Given the description of an element on the screen output the (x, y) to click on. 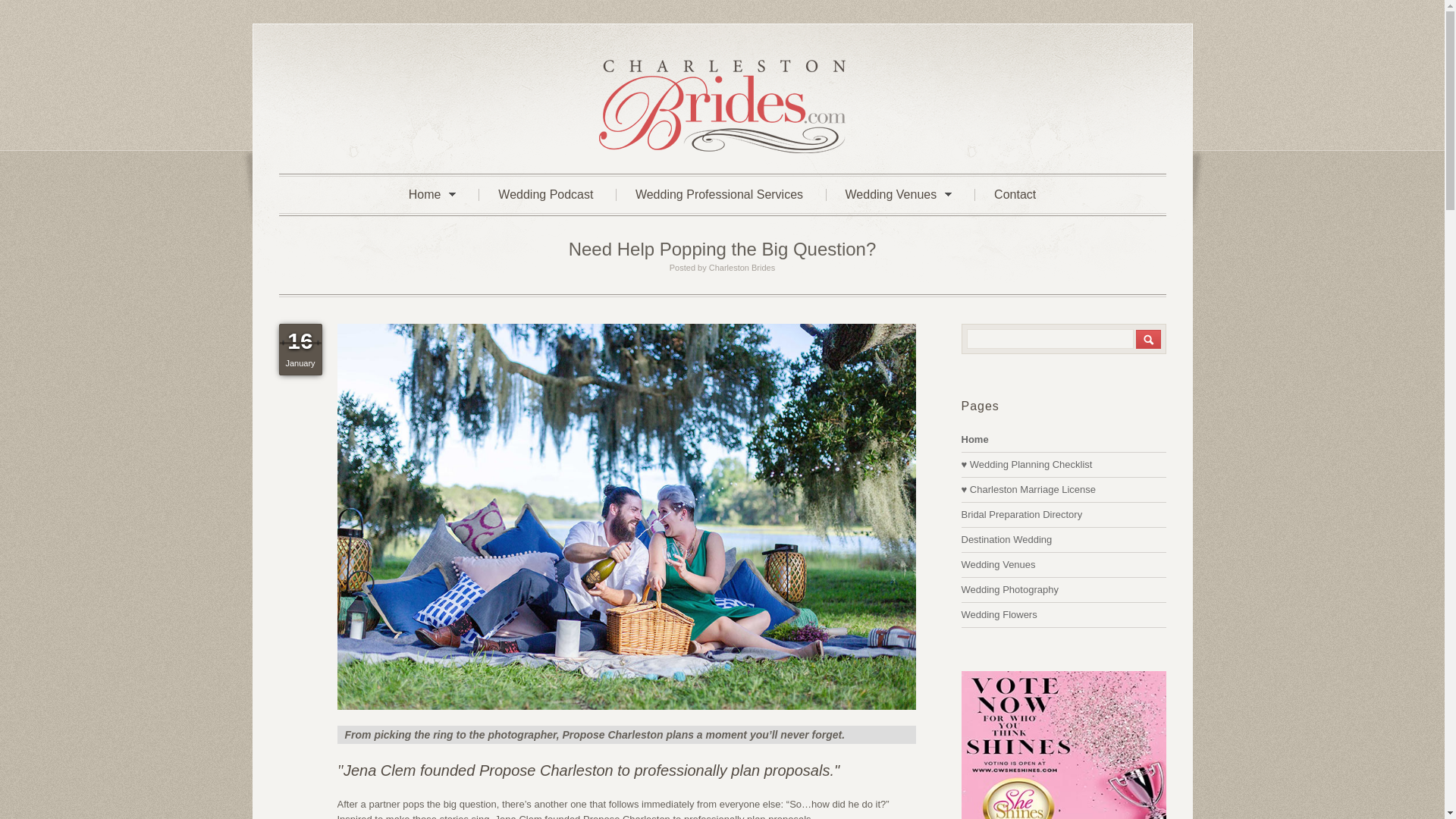
Charleston Brides (721, 149)
Home (433, 194)
Photography (1009, 589)
Wedding Flowers (998, 614)
Destination Wedding (1006, 539)
Wedding Professional Services (718, 194)
Bridal Preparation Directory (1021, 514)
Checklist (1026, 464)
Wedding Venues (997, 564)
Contact (1014, 194)
Charleston, SC Brides (974, 439)
Home (974, 439)
Charleston Marriage License (1028, 489)
Charleston Wedding Venues (997, 564)
Charleston Brides (741, 266)
